Given the description of an element on the screen output the (x, y) to click on. 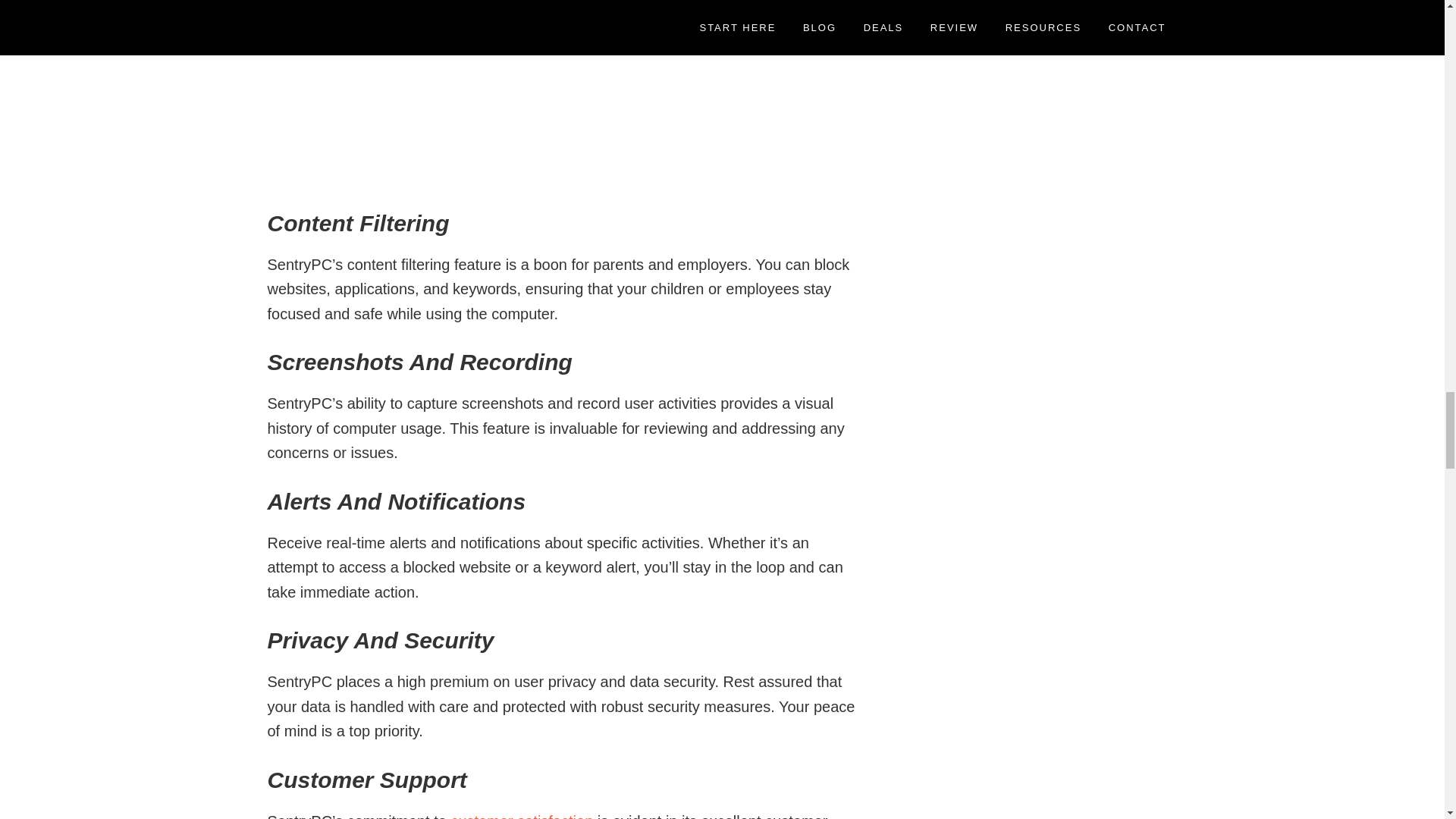
customer satisfaction (520, 816)
